Given the description of an element on the screen output the (x, y) to click on. 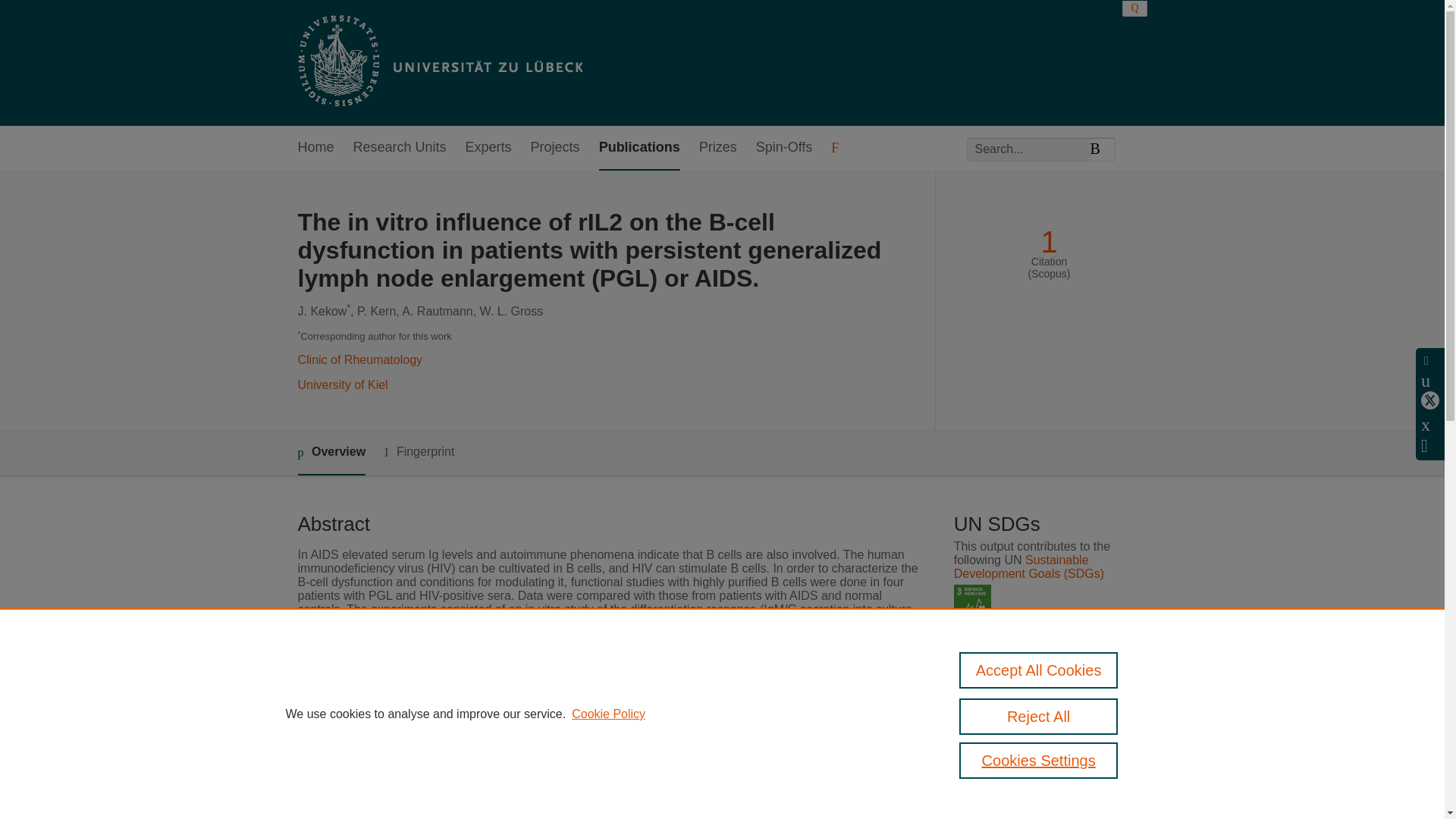
Link to publication in Scopus (1045, 667)
Cancer detection and prevention (595, 747)
Fingerprint (419, 452)
Clinic of Rheumatology (359, 359)
Publications (638, 148)
SDG 3 - Good Health and Well-being (972, 602)
Research Units (399, 148)
Experts (488, 148)
Spin-Offs (783, 148)
University of Kiel (342, 384)
